Given the description of an element on the screen output the (x, y) to click on. 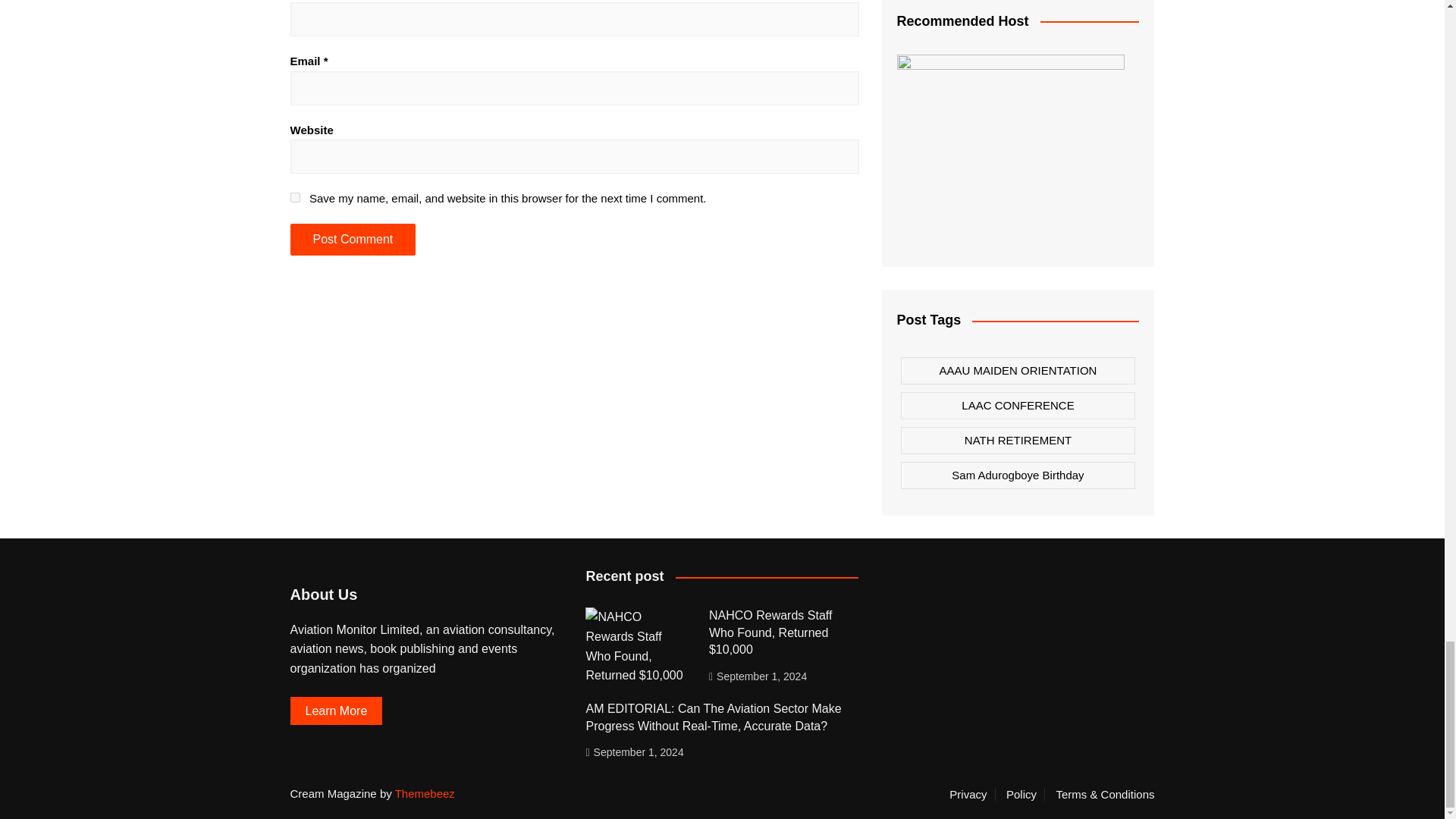
yes (294, 197)
Post Comment (351, 239)
